Given the description of an element on the screen output the (x, y) to click on. 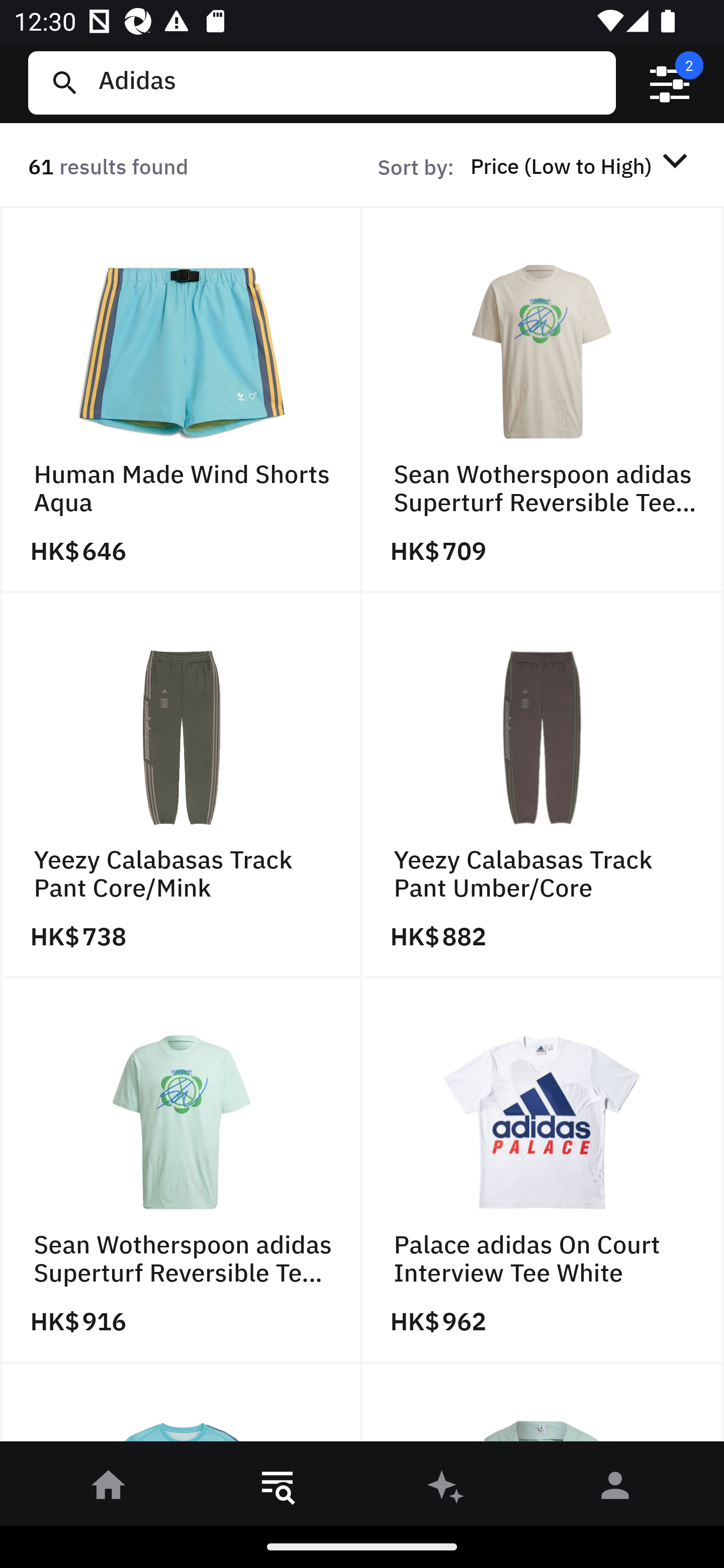
Adidas (349, 82)
 (669, 82)
Price (Low to High)  (582, 165)
Human Made Wind Shorts Aqua HK$ 646 (181, 399)
Yeezy Calabasas Track Pant Core/Mink HK$ 738 (181, 785)
Yeezy Calabasas Track Pant Umber/Core HK$ 882 (543, 785)
Palace adidas On Court Interview Tee White HK$ 962 (543, 1171)
󰋜 (108, 1488)
󱎸 (277, 1488)
󰫢 (446, 1488)
󰀄 (615, 1488)
